Given the description of an element on the screen output the (x, y) to click on. 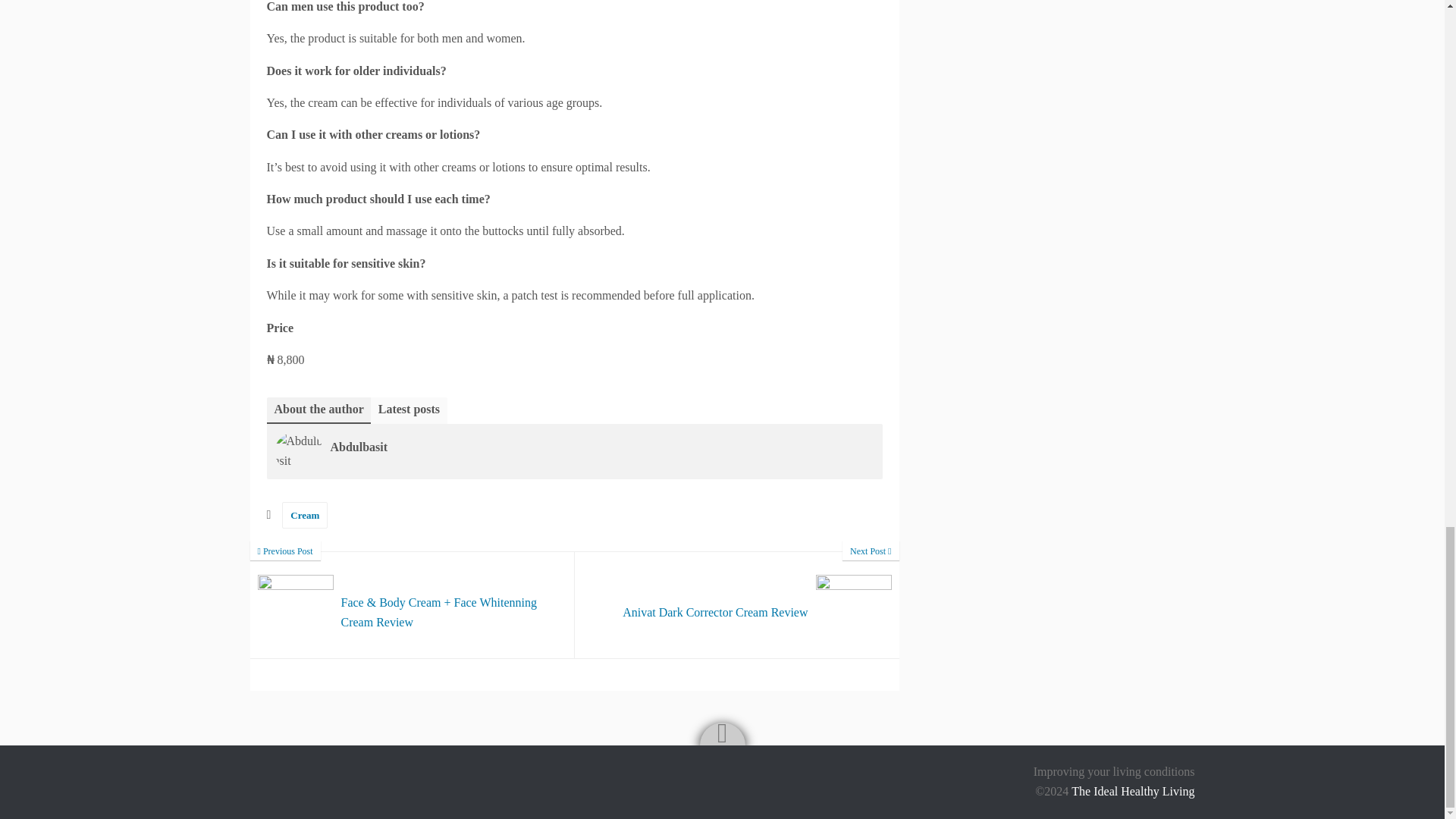
Anivat Dark Corrector Cream Review (737, 605)
The Ideal Healthy Living (1132, 791)
Cream (737, 605)
